Given the description of an element on the screen output the (x, y) to click on. 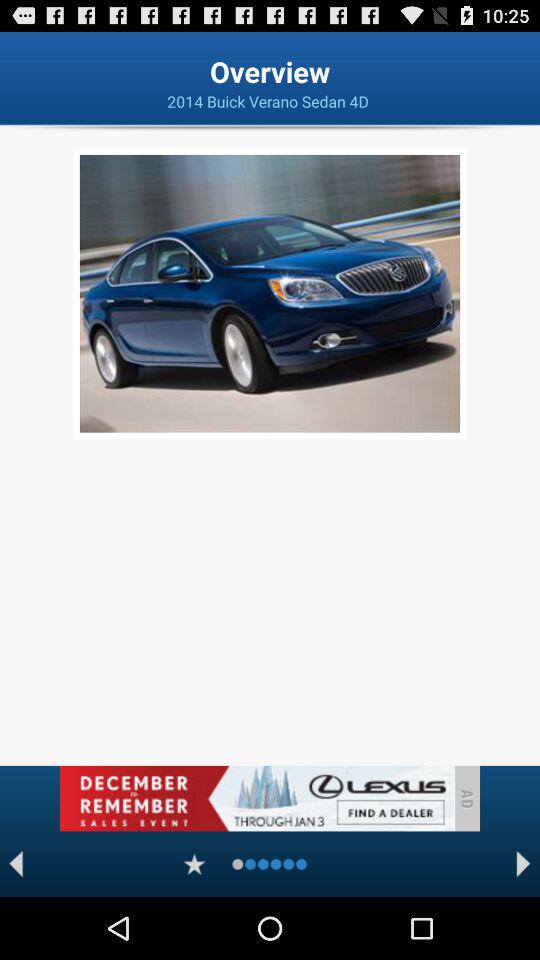
more (194, 864)
